Given the description of an element on the screen output the (x, y) to click on. 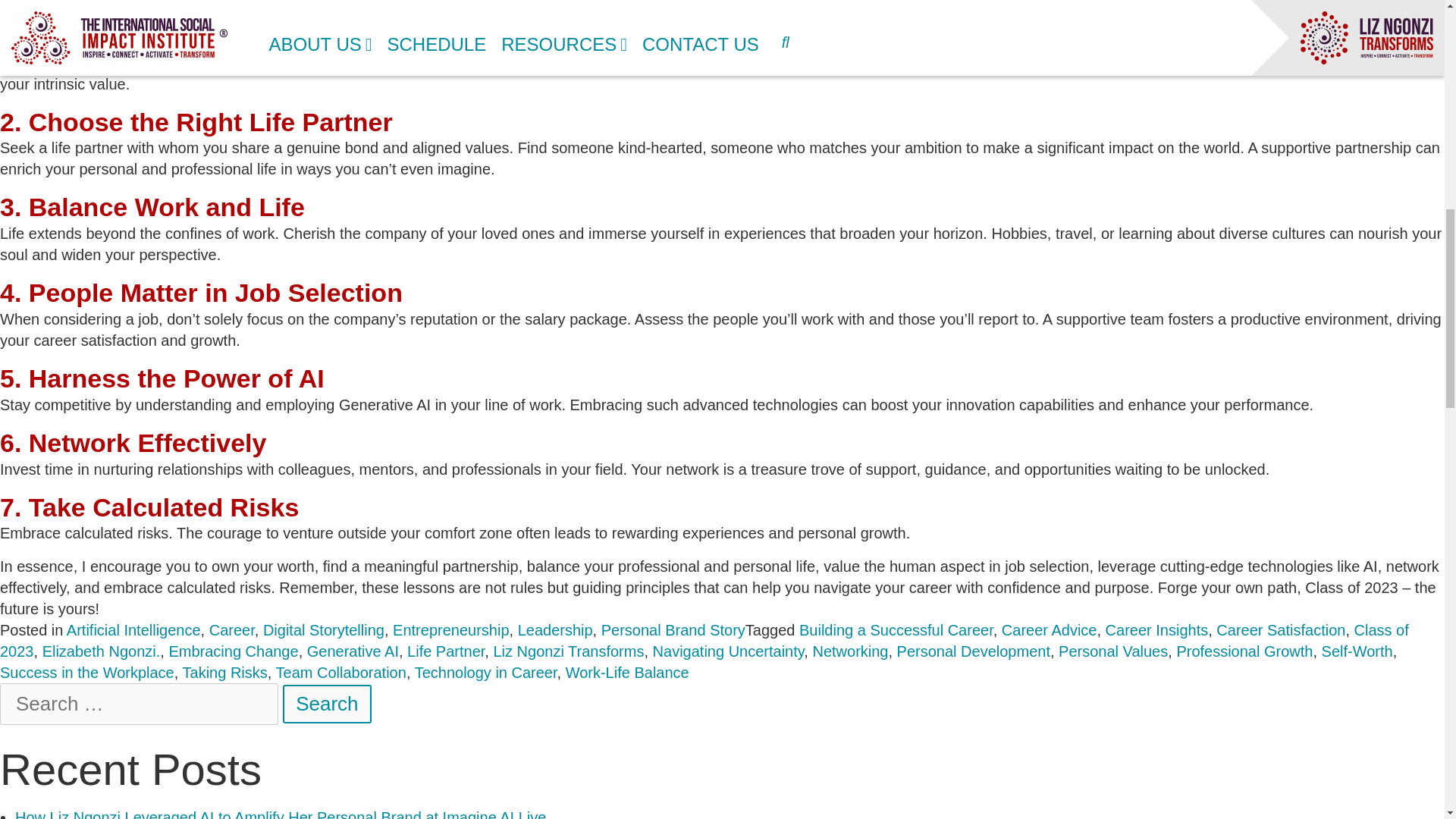
Artificial Intelligence (133, 630)
Embracing Change (233, 651)
Leadership (555, 630)
Career (231, 630)
Personal Brand Story (673, 630)
Career Satisfaction (1280, 630)
Elizabeth Ngonzi. (101, 651)
Entrepreneurship (450, 630)
Search (327, 703)
Networking (850, 651)
Generative AI (352, 651)
Digital Storytelling (323, 630)
Career Advice (1049, 630)
Liz Ngonzi Transforms (568, 651)
Building a Successful Career (895, 630)
